Given the description of an element on the screen output the (x, y) to click on. 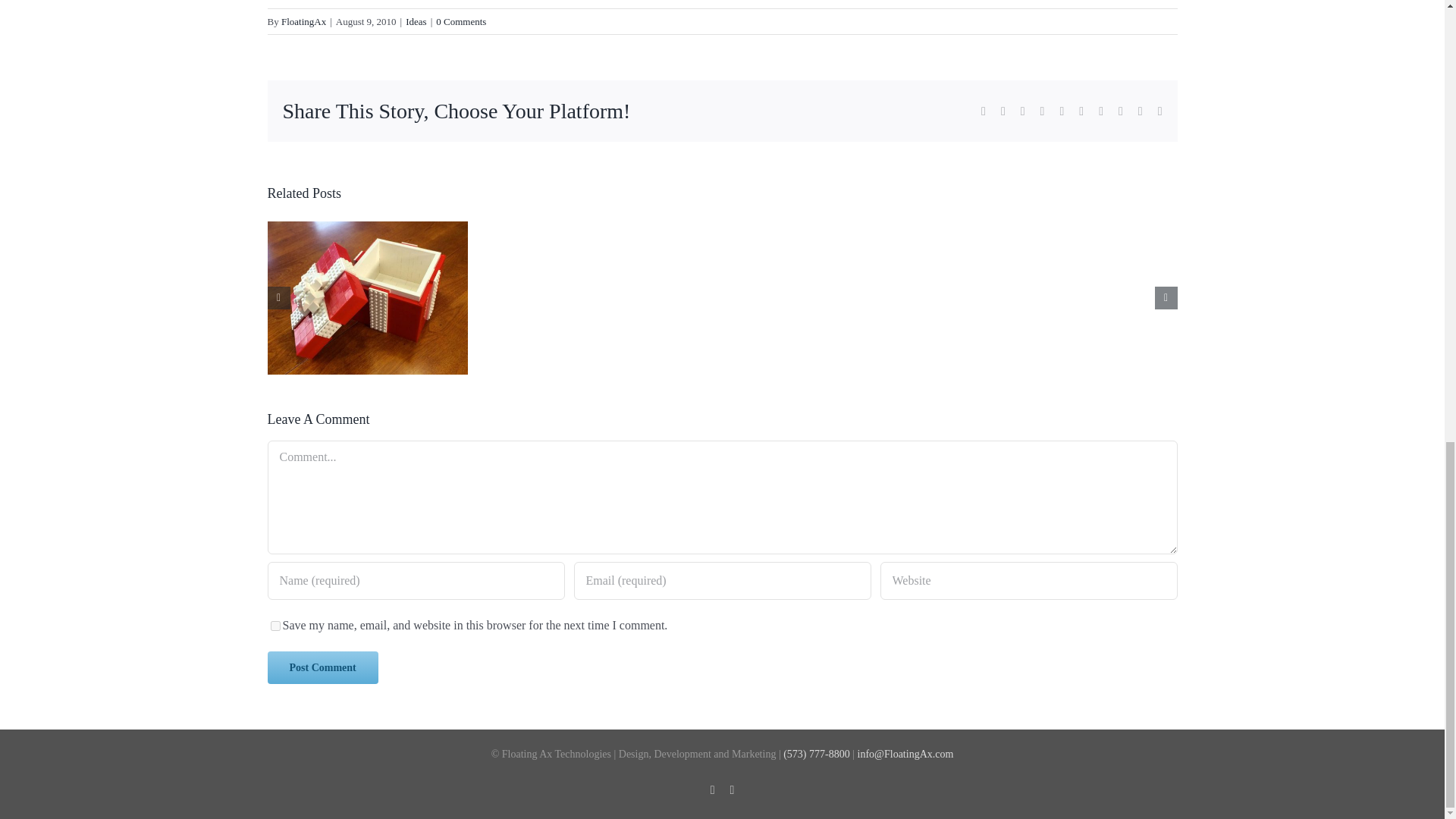
Posts by FloatingAx (303, 21)
yes (274, 625)
Ideas (416, 21)
0 Comments (460, 21)
Post Comment (321, 667)
FloatingAx (303, 21)
